Given the description of an element on the screen output the (x, y) to click on. 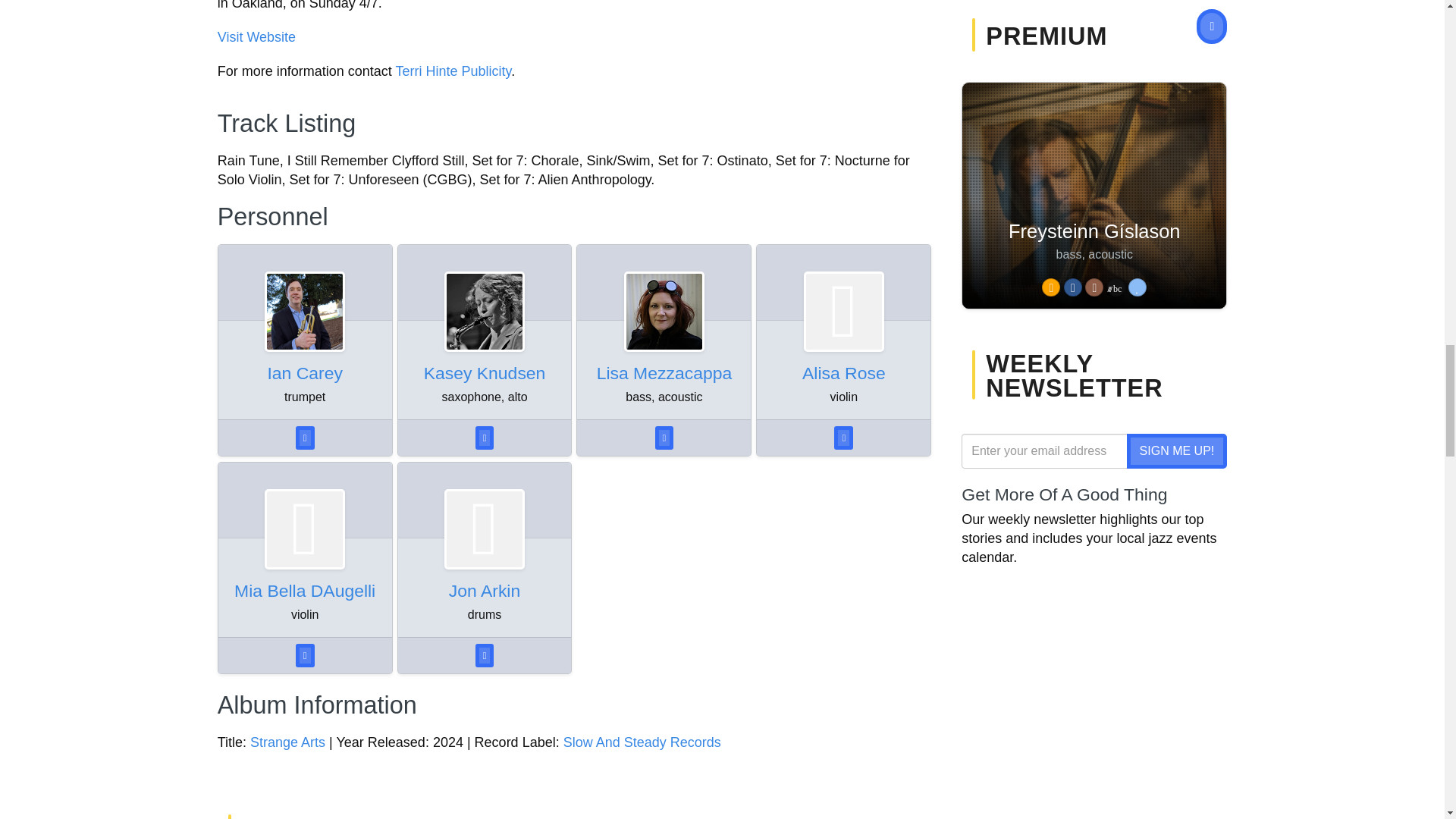
Visit Website (255, 37)
Visit Ian Carey at All About Jazz (304, 373)
Kasey Knudsen (484, 373)
Ian Carey (304, 373)
Visit Ian Carey at All About Jazz (304, 311)
Visit Kasey Knudsen at All About Jazz (484, 311)
Terri Hinte Publicity (452, 70)
